Given the description of an element on the screen output the (x, y) to click on. 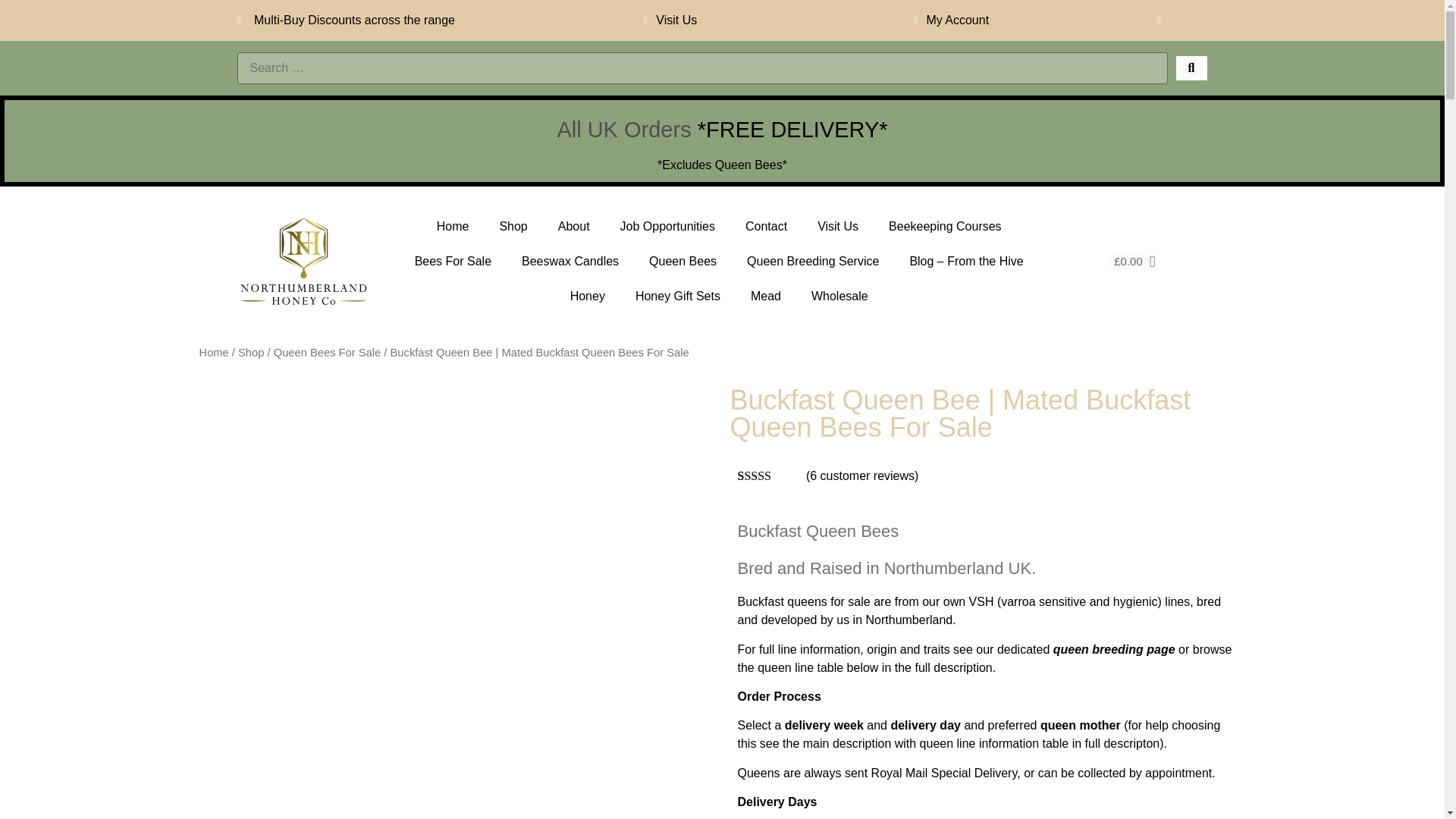
Contact (766, 226)
Visit Us (668, 20)
Shop (512, 226)
Job Opportunities (667, 226)
Bees For Sale (452, 261)
About (574, 226)
Honey Gift Sets (677, 296)
Home (453, 226)
Queen Breeding Service (812, 261)
Queen Bees (682, 261)
Mead (765, 296)
My Account (948, 20)
Beeswax Candles (569, 261)
Honey (587, 296)
Wholesale (839, 296)
